Given the description of an element on the screen output the (x, y) to click on. 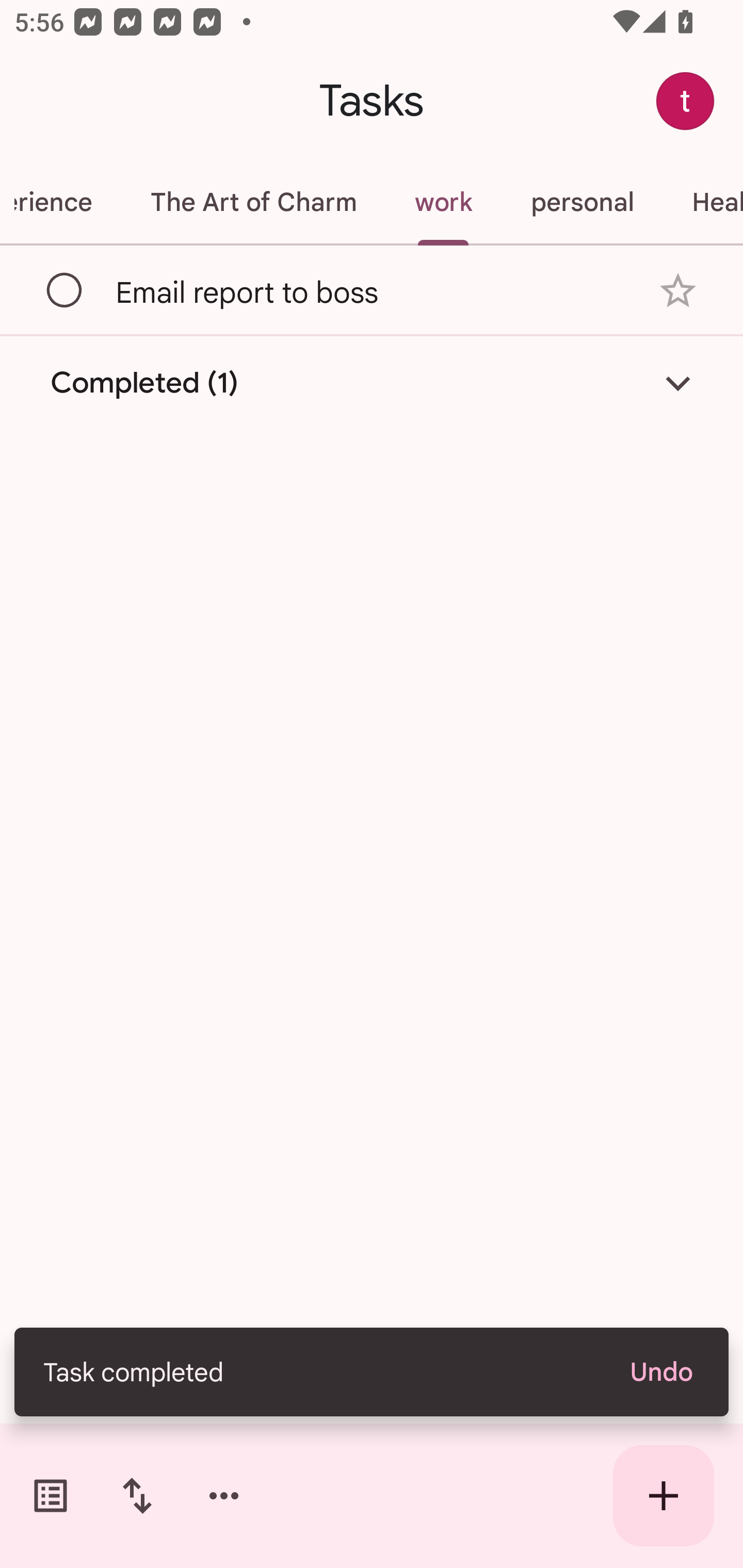
The Joe Rogan Experience (60, 202)
The Art of Charm (253, 202)
personal (581, 202)
Add star (677, 290)
Mark as complete (64, 290)
Completed (1) (371, 382)
Undo (660, 1371)
Switch task lists (50, 1495)
Create new task (663, 1495)
Change sort order (136, 1495)
More options (223, 1495)
